Given the description of an element on the screen output the (x, y) to click on. 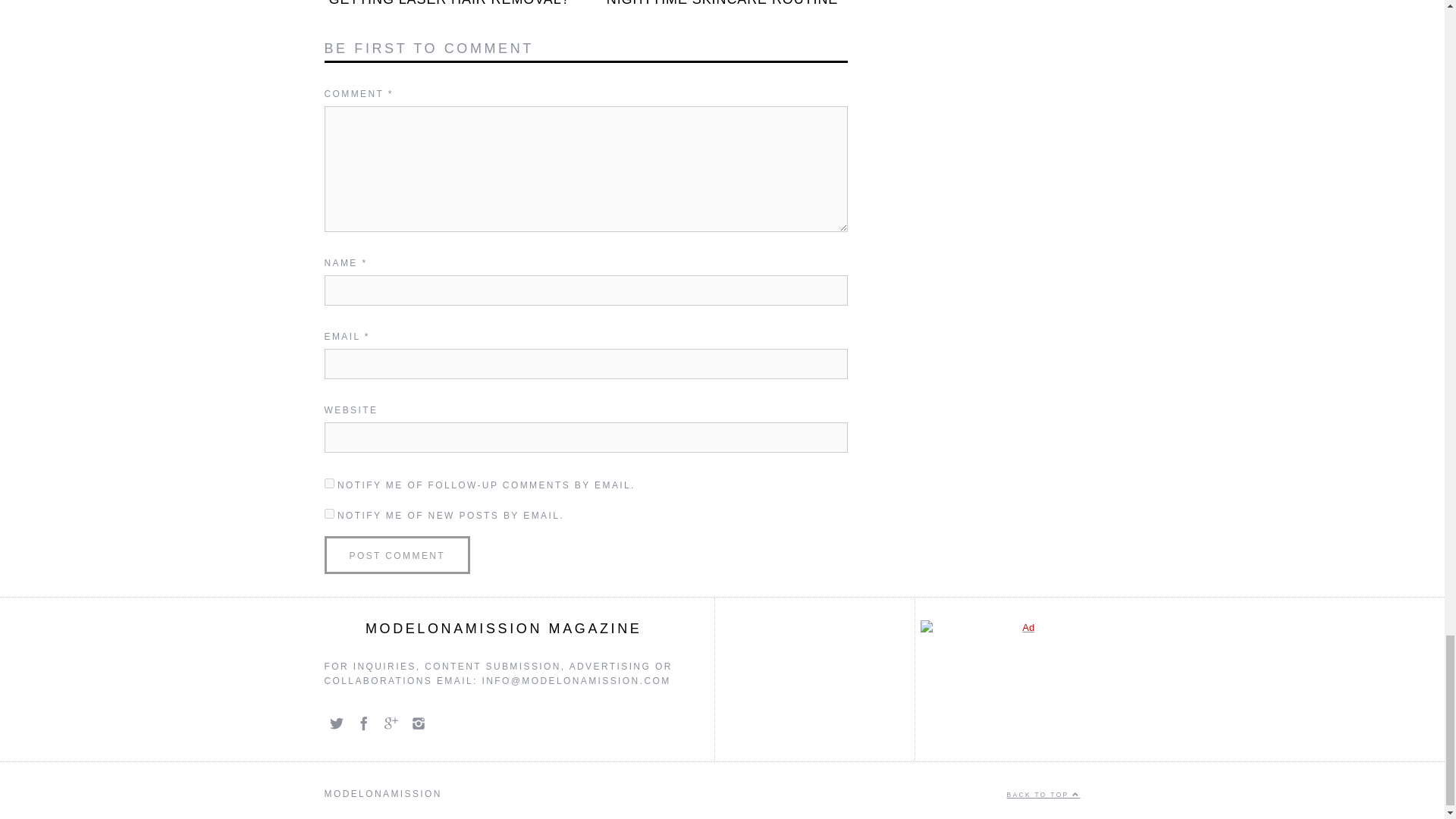
subscribe (329, 483)
Post Comment (397, 555)
subscribe (329, 513)
